Given the description of an element on the screen output the (x, y) to click on. 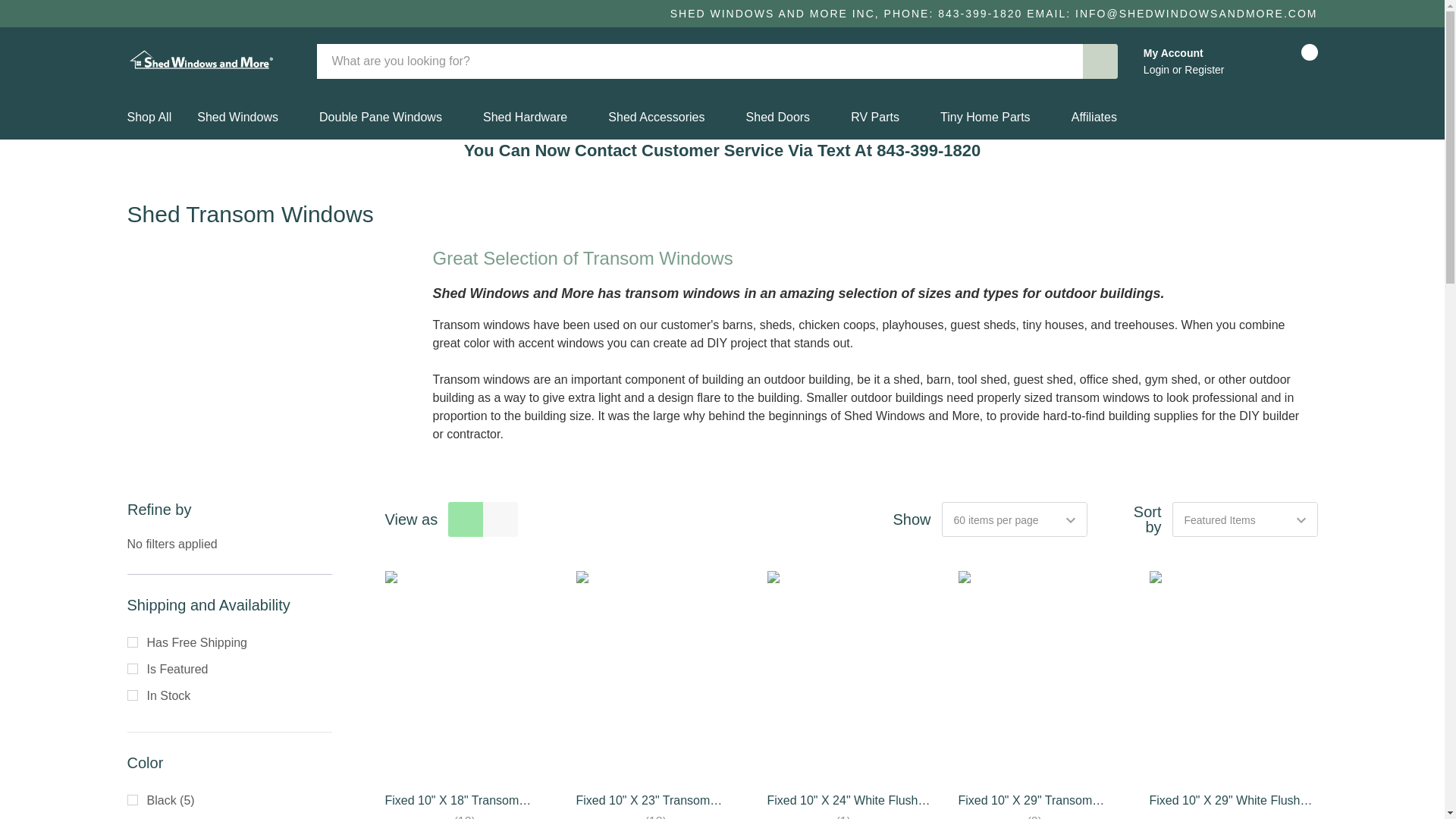
Register (1204, 69)
SWAM (201, 61)
Shed Windows (237, 117)
Login (1157, 69)
Shop All (156, 117)
